Given the description of an element on the screen output the (x, y) to click on. 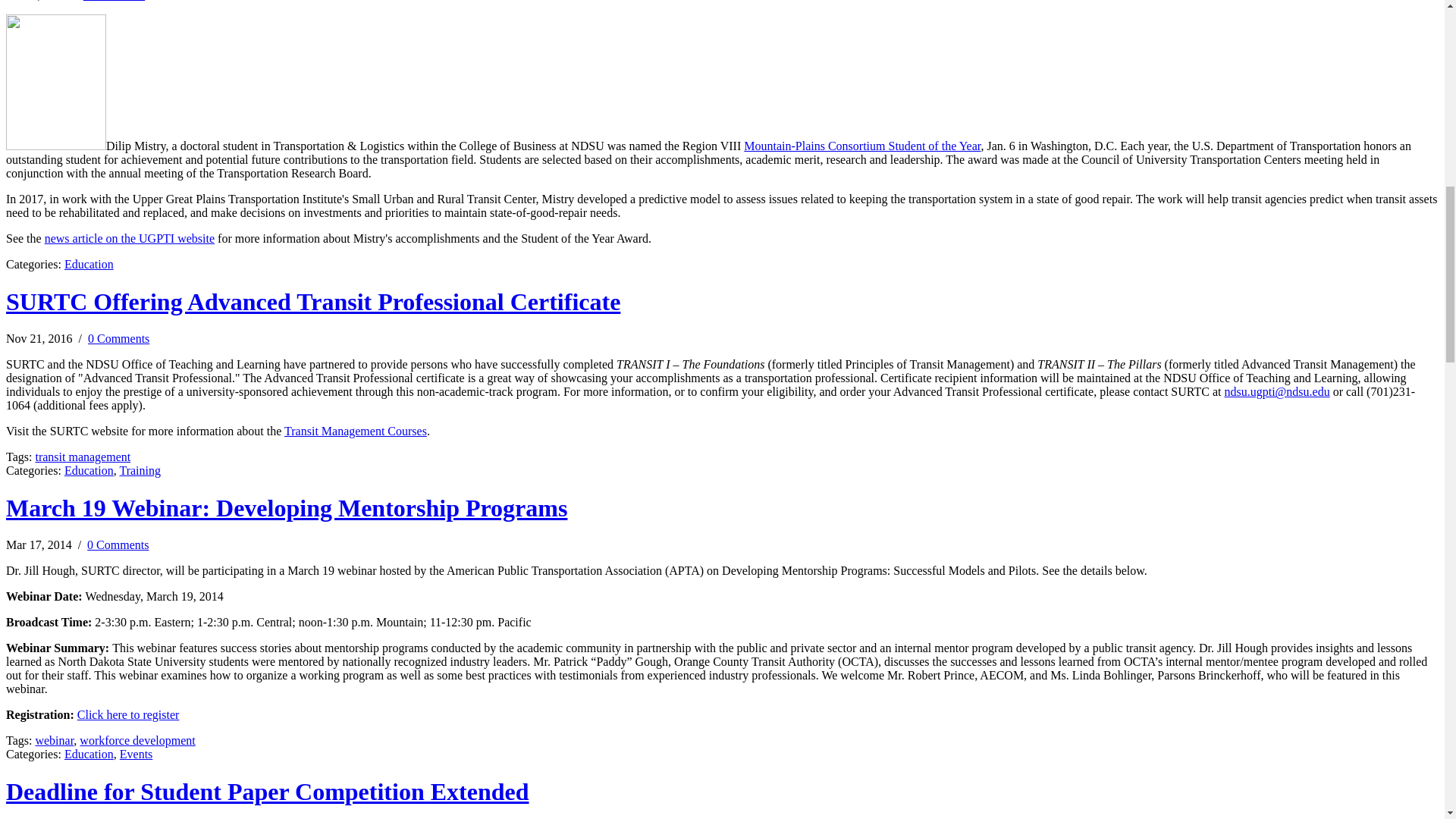
0 Comments (113, 0)
Education (88, 264)
Transit Management Courses (354, 431)
0 Comments (118, 338)
transit management (82, 456)
news article on the UGPTI website (129, 237)
SURTC Offering Advanced Transit Professional Certificate (312, 301)
Mountain-Plains Consortium Student of the Year (861, 145)
